Given the description of an element on the screen output the (x, y) to click on. 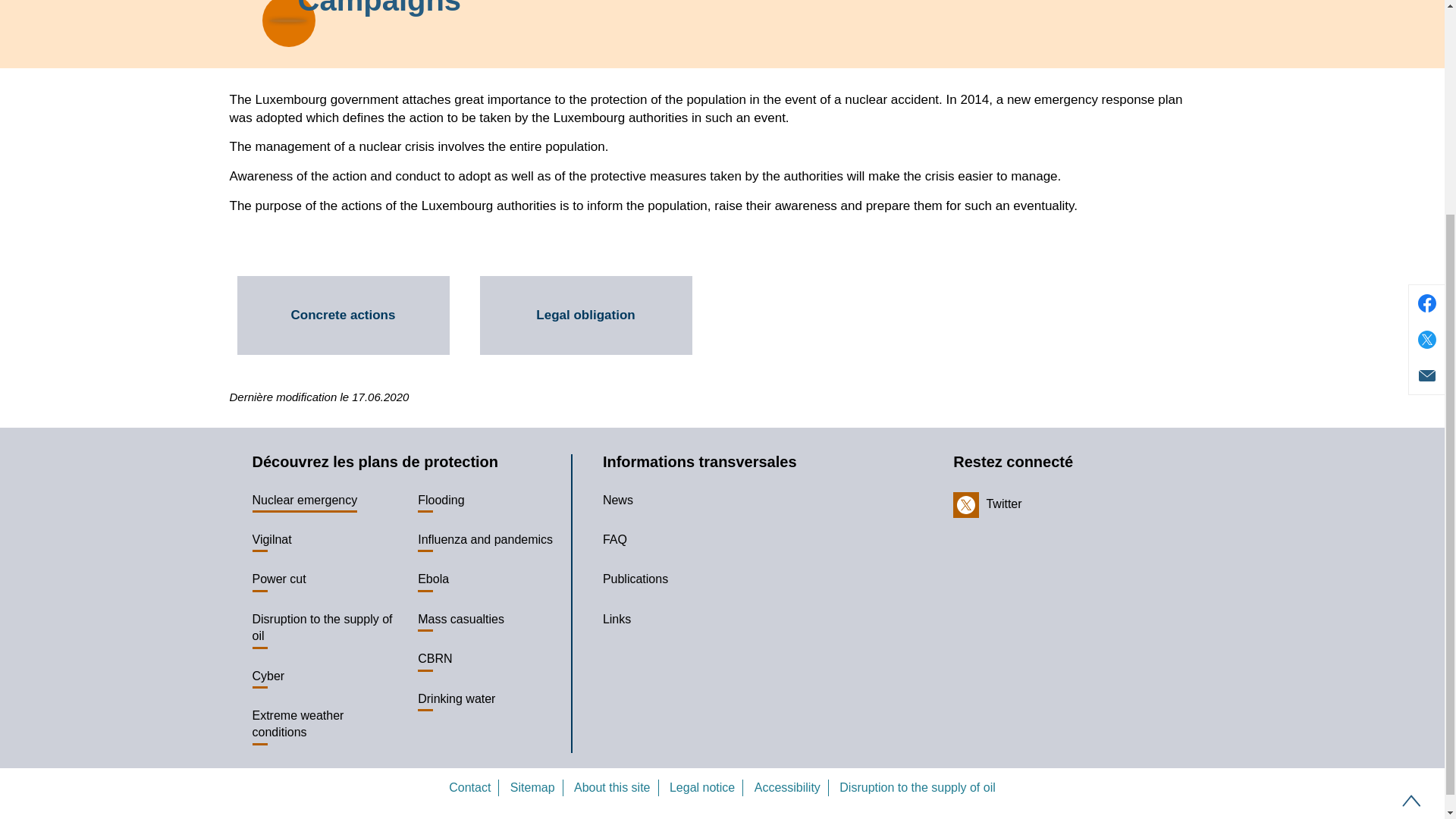
Disruption to the supply of oil (327, 627)
Twitter - New window (987, 504)
Mass casualties (466, 619)
Legal obligation (585, 315)
Power cut (284, 578)
Back to top (1411, 513)
Ebola (438, 578)
Influenza and pandemics (490, 539)
Vigilnat (276, 539)
Drinking water (461, 699)
